Given the description of an element on the screen output the (x, y) to click on. 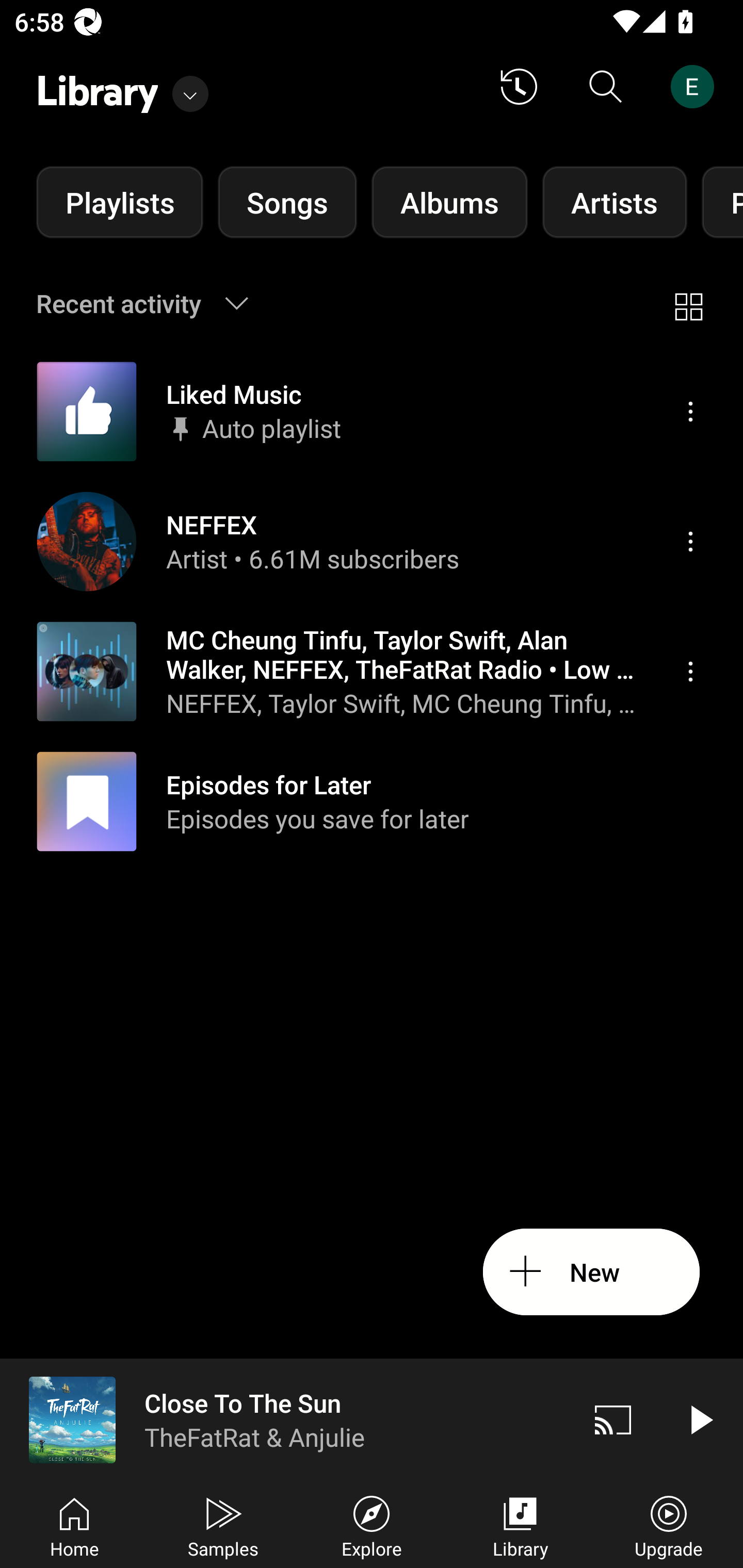
Show library landing selected Library (121, 86)
History (518, 86)
Search (605, 86)
Account (696, 86)
Recent activity selected Recent activity (154, 303)
Show in grid view (688, 303)
Menu (690, 411)
Menu (690, 540)
Menu (690, 671)
New (590, 1272)
Close To The Sun TheFatRat & Anjulie (284, 1419)
Cast. Disconnected (612, 1419)
Play video (699, 1419)
Home (74, 1524)
Samples (222, 1524)
Explore (371, 1524)
Upgrade (668, 1524)
